Given the description of an element on the screen output the (x, y) to click on. 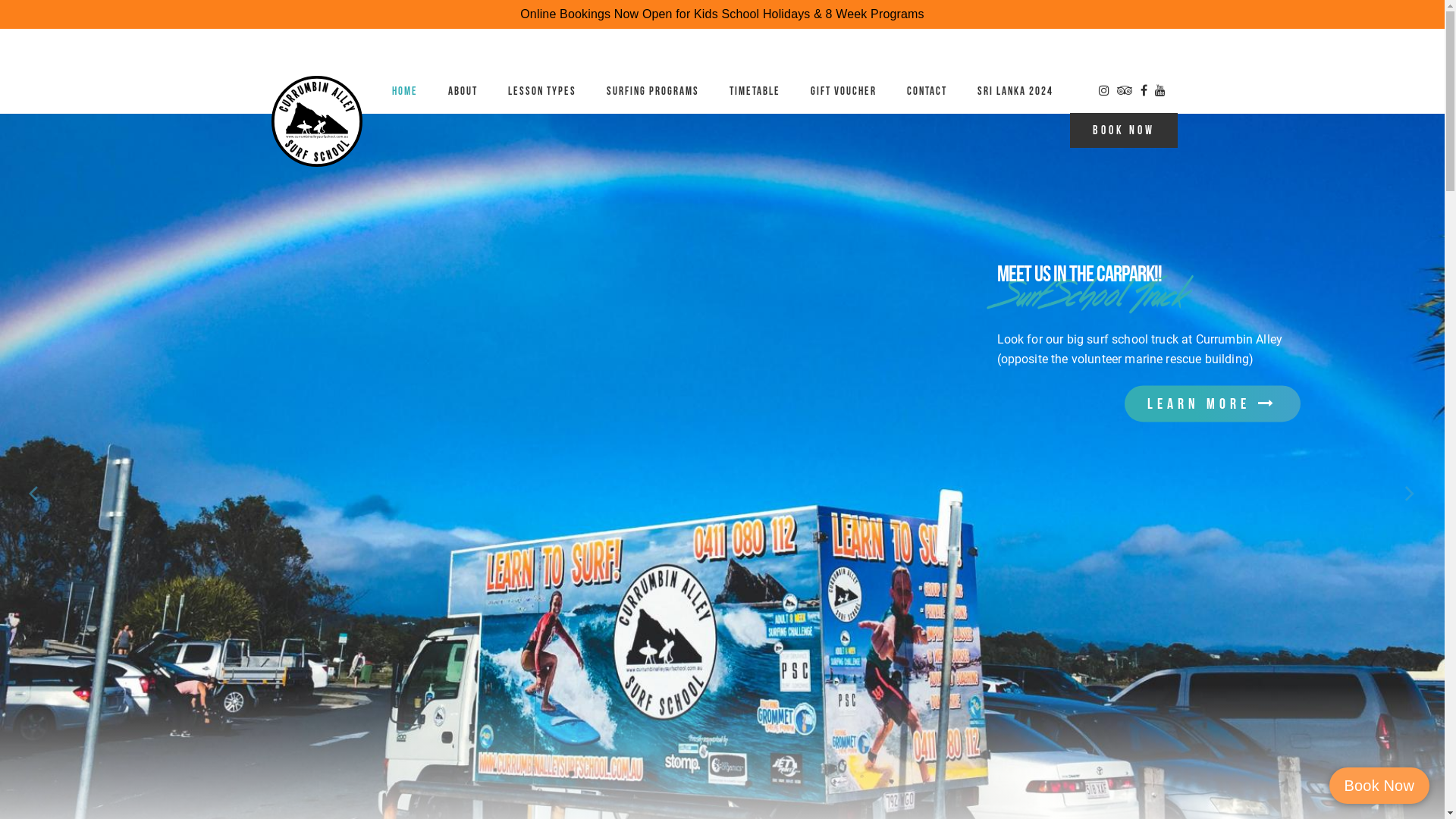
CONTACT Element type: text (926, 90)
HOME Element type: text (404, 90)
Book Now Element type: text (1379, 785)
TIMETABLE Element type: text (754, 90)
LESSON TYPES Element type: text (541, 90)
SRI LANKA 2024 Element type: text (1015, 90)
SURFING PROGRAMS Element type: text (652, 90)
GIFT VOUCHER Element type: text (843, 90)
ABOUT Element type: text (462, 90)
BOOK NOW Element type: text (1122, 129)
Learn more Element type: text (1211, 403)
